Given the description of an element on the screen output the (x, y) to click on. 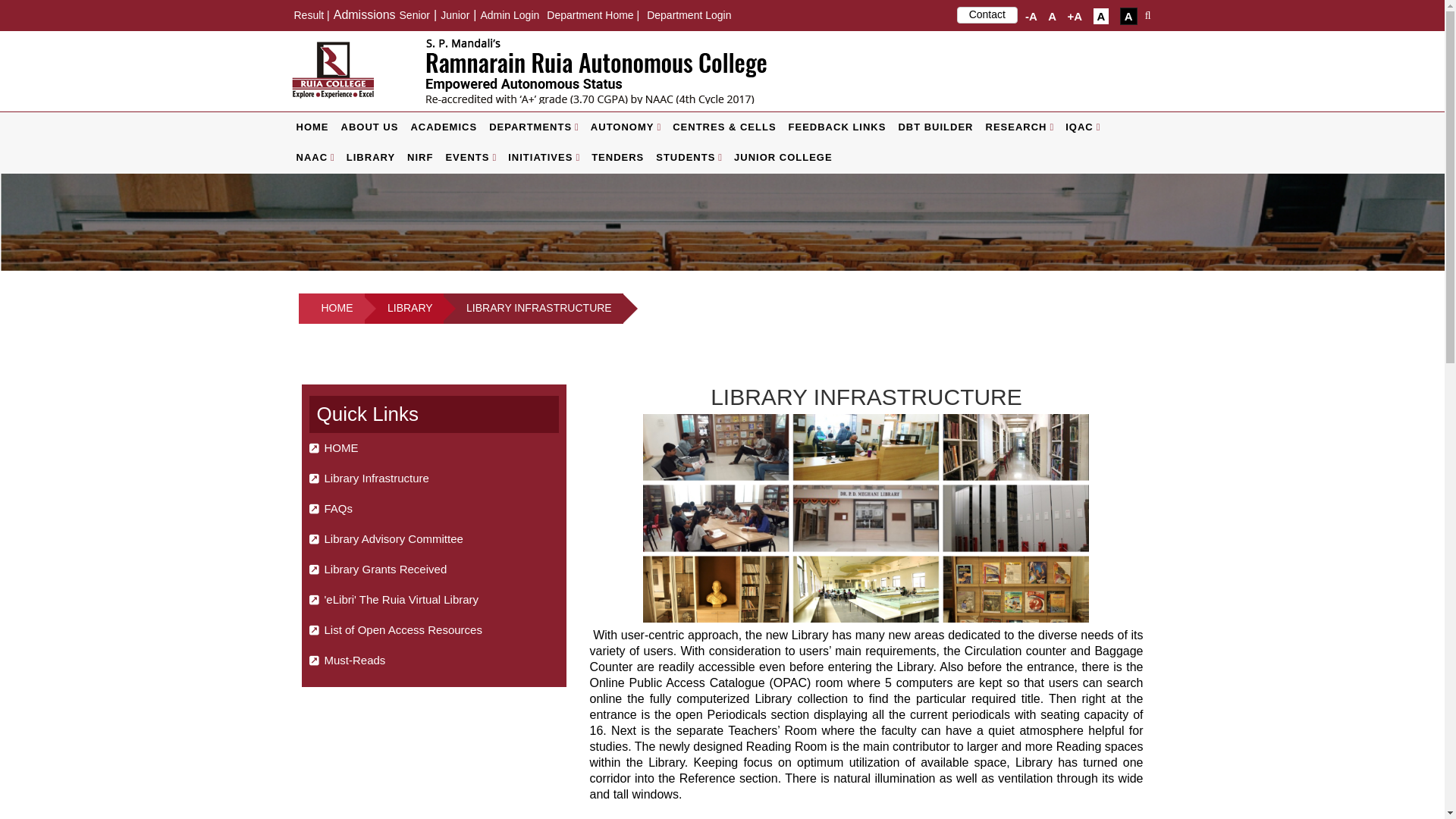
Junior (454, 15)
ABOUT US (369, 127)
EVENTS (470, 157)
NAAC (314, 157)
Feedback (837, 127)
A (1128, 16)
Contact (986, 14)
A (1101, 16)
RESEARCH (1019, 127)
-A (1030, 15)
AUTONOMY (625, 127)
IQAC (1082, 127)
AUTONOMY (625, 127)
DBT BUILDER (934, 127)
DEPARTMENTS (534, 127)
